Given the description of an element on the screen output the (x, y) to click on. 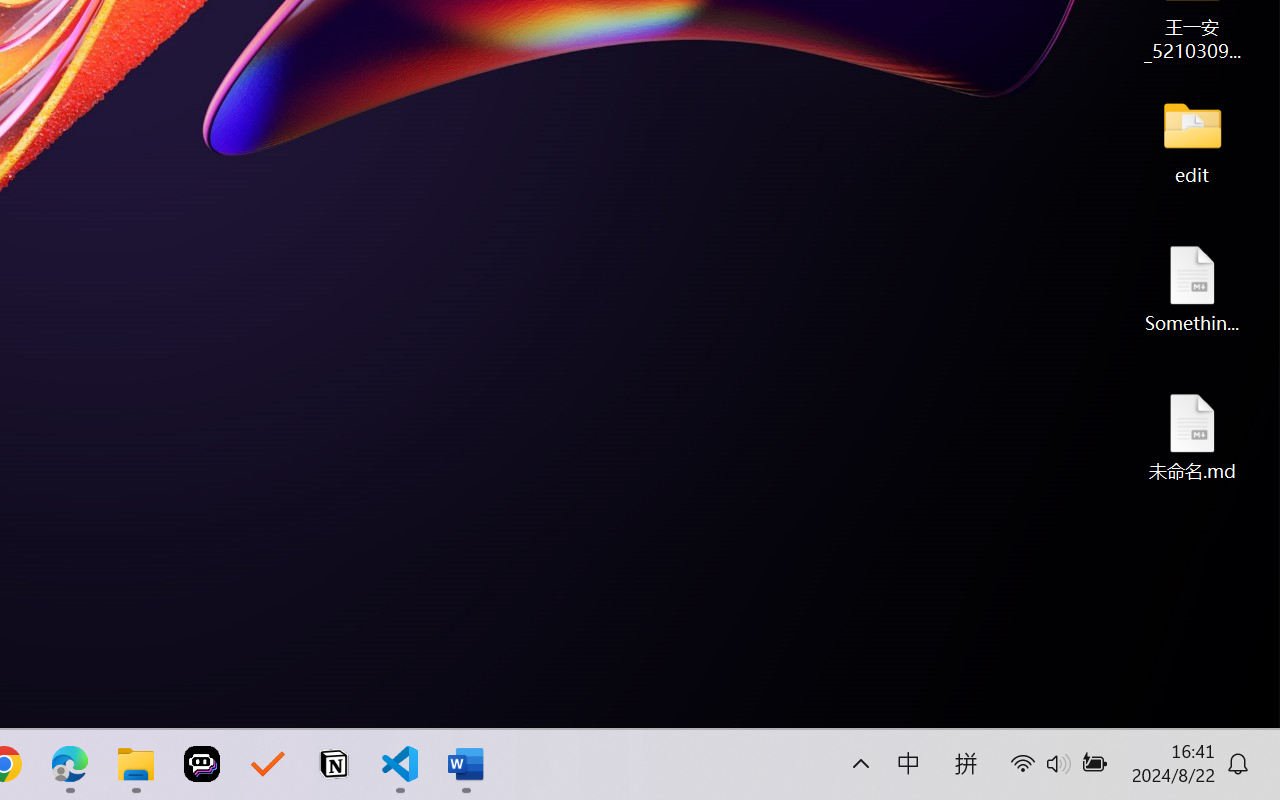
edit (1192, 140)
